Given the description of an element on the screen output the (x, y) to click on. 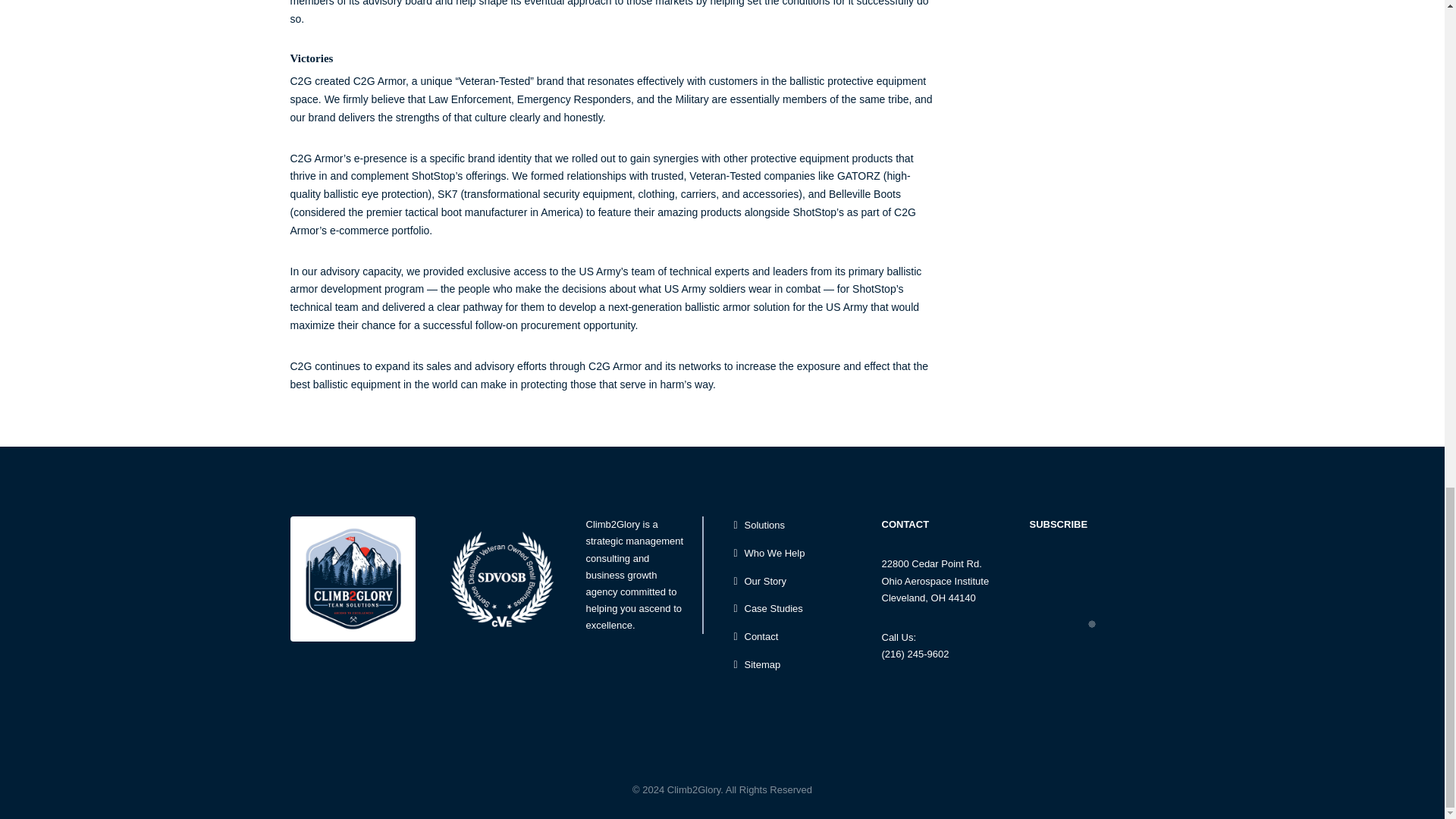
Case Studies (796, 609)
Solutions (796, 525)
Who We Help (796, 553)
Sitemap (796, 665)
Our Story (796, 581)
Contact (796, 637)
